Given the description of an element on the screen output the (x, y) to click on. 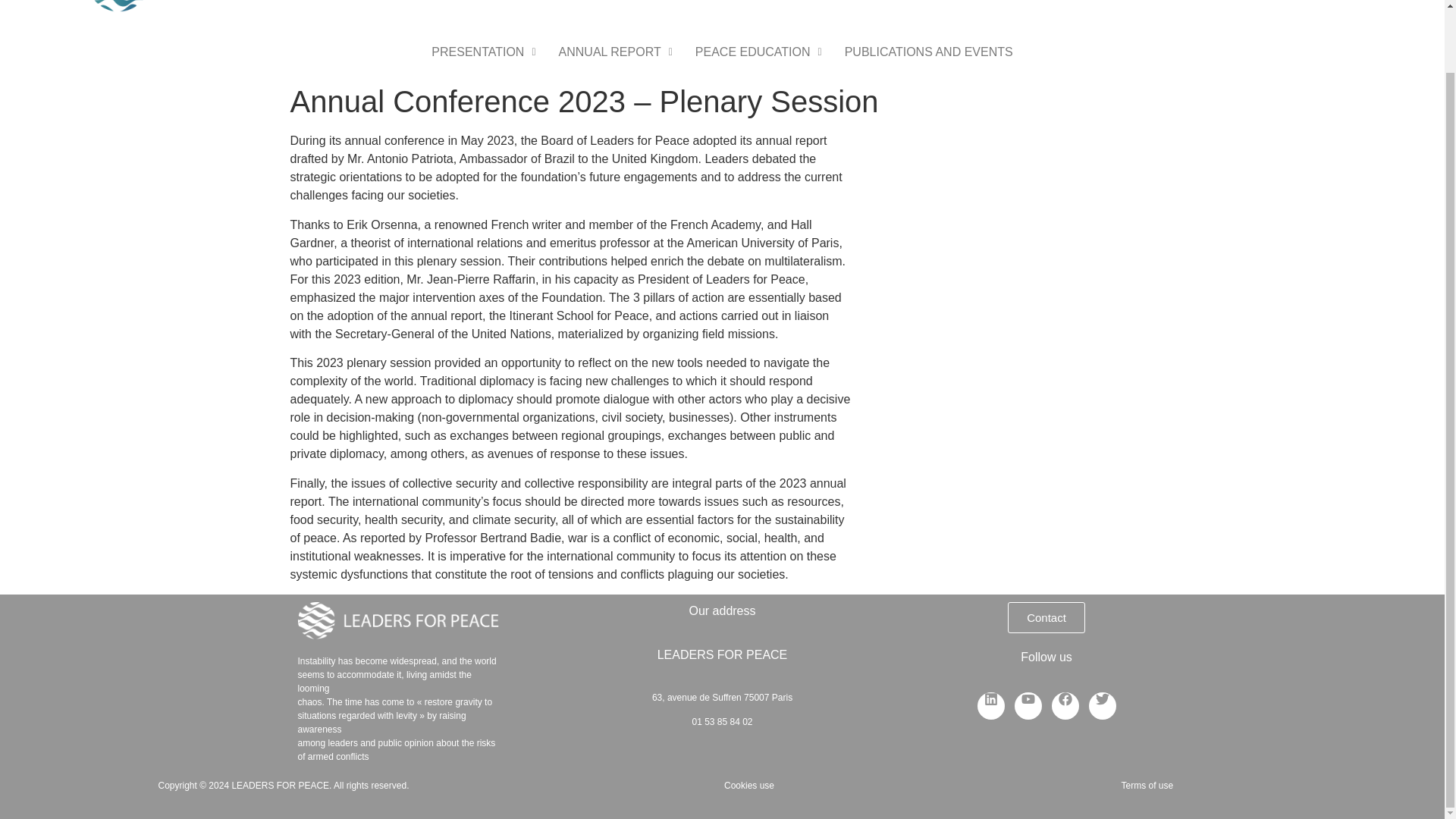
Contact (1045, 617)
ANNUAL REPORT (615, 52)
PEACE EDUCATION (758, 52)
PUBLICATIONS AND EVENTS (928, 52)
PRESENTATION (483, 52)
